Given the description of an element on the screen output the (x, y) to click on. 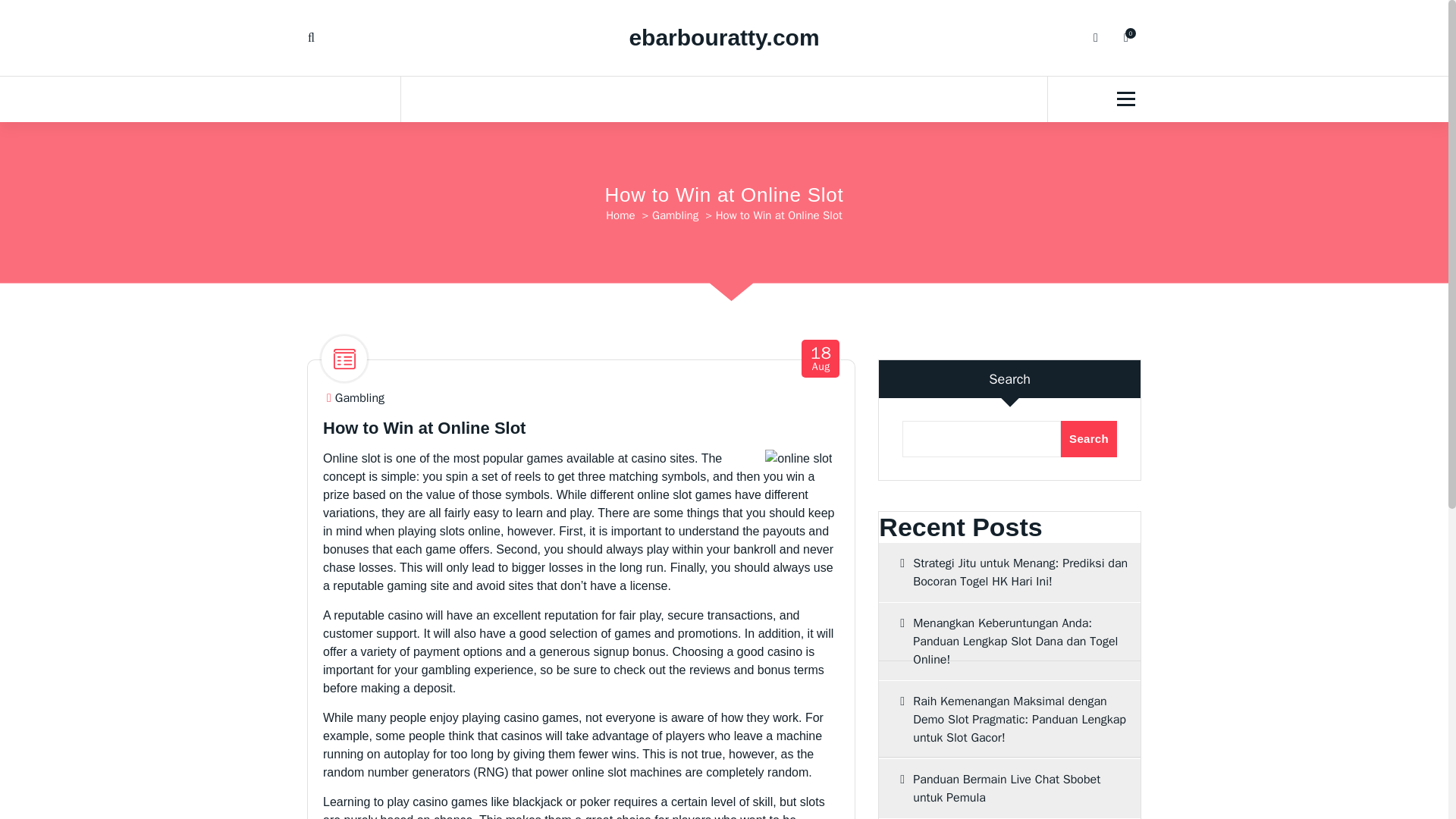
Home (619, 214)
Gambling (359, 398)
0 (820, 358)
Panduan Bermain Live Chat Sbobet untuk Pemula (1125, 37)
Gambling (1009, 788)
Search (675, 214)
